Given the description of an element on the screen output the (x, y) to click on. 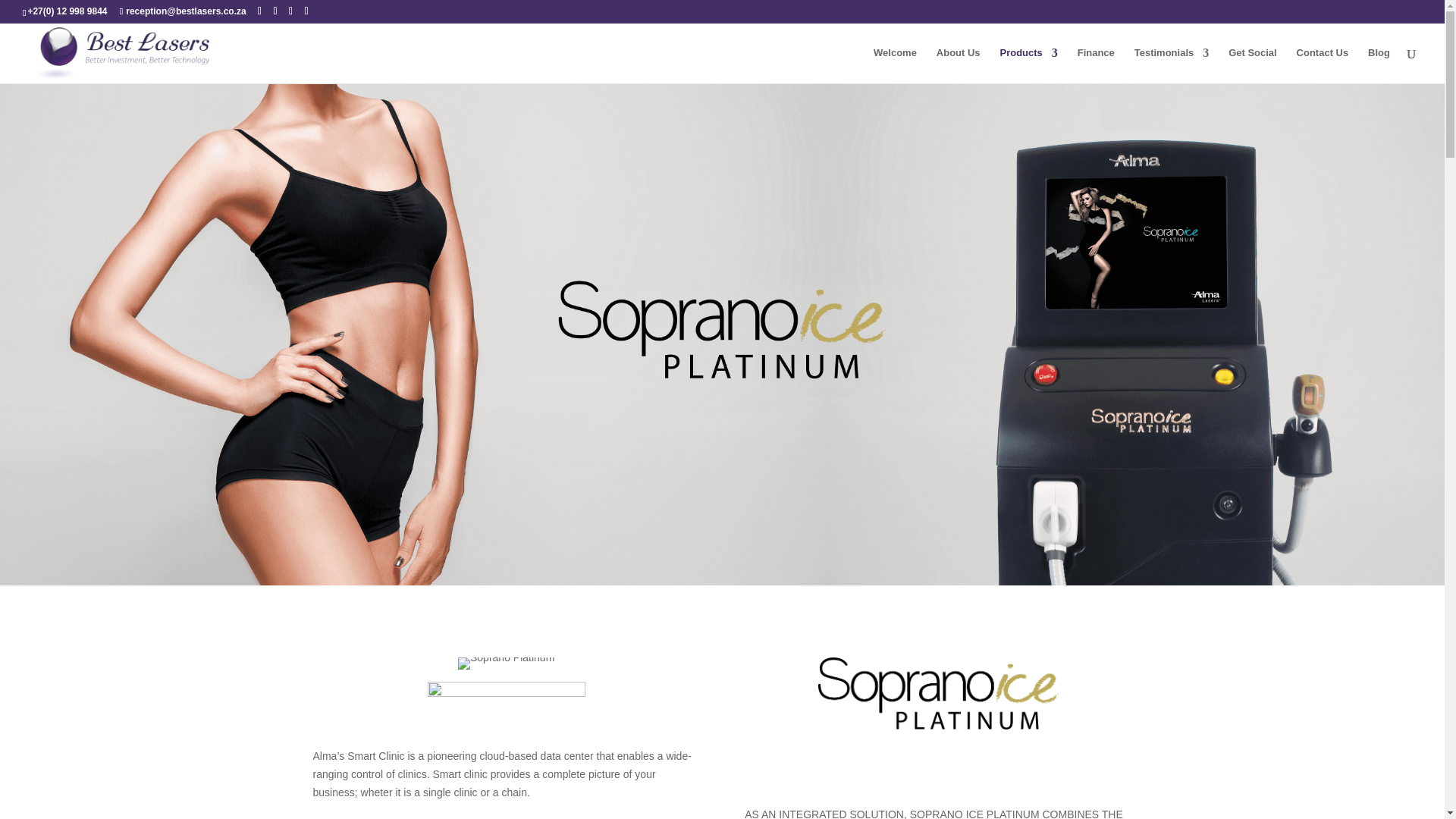
Products (1027, 65)
SopranoIcePlatinum-logo (938, 693)
About Us (957, 65)
Welcome (895, 65)
SHR-BADGE (506, 702)
Soprano Platinum web (506, 663)
